Given the description of an element on the screen output the (x, y) to click on. 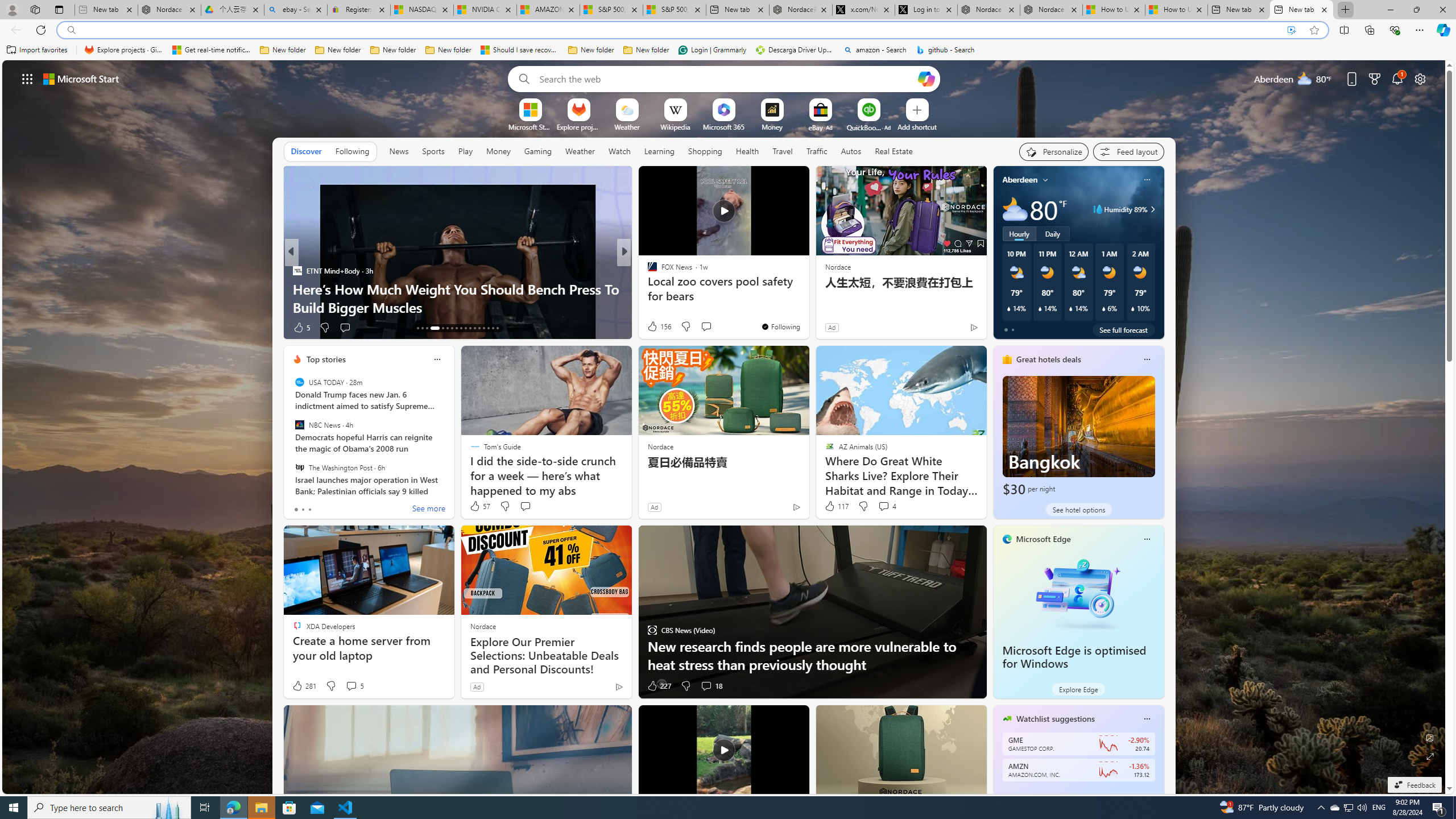
USA TODAY (299, 382)
Favorites bar (728, 49)
Search icon (70, 29)
Microsoft Edge is optimised for Windows (1074, 657)
hotels-header-icon (1006, 358)
AutomationID: tab-17 (442, 328)
Class: weather-arrow-glyph (1152, 208)
Health (746, 151)
Watchlist suggestions (1055, 718)
